Given the description of an element on the screen output the (x, y) to click on. 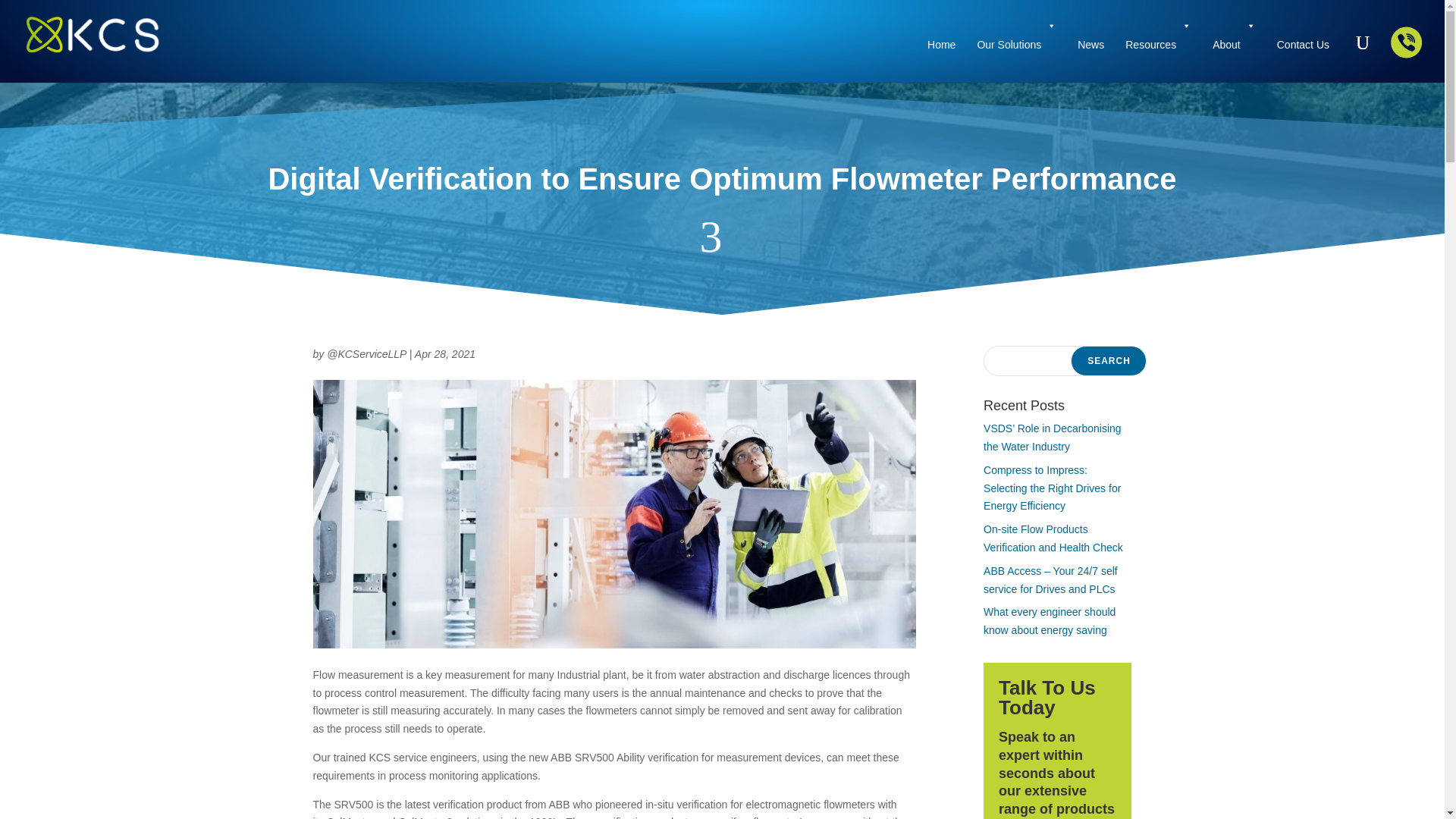
Search (1108, 360)
